Given the description of an element on the screen output the (x, y) to click on. 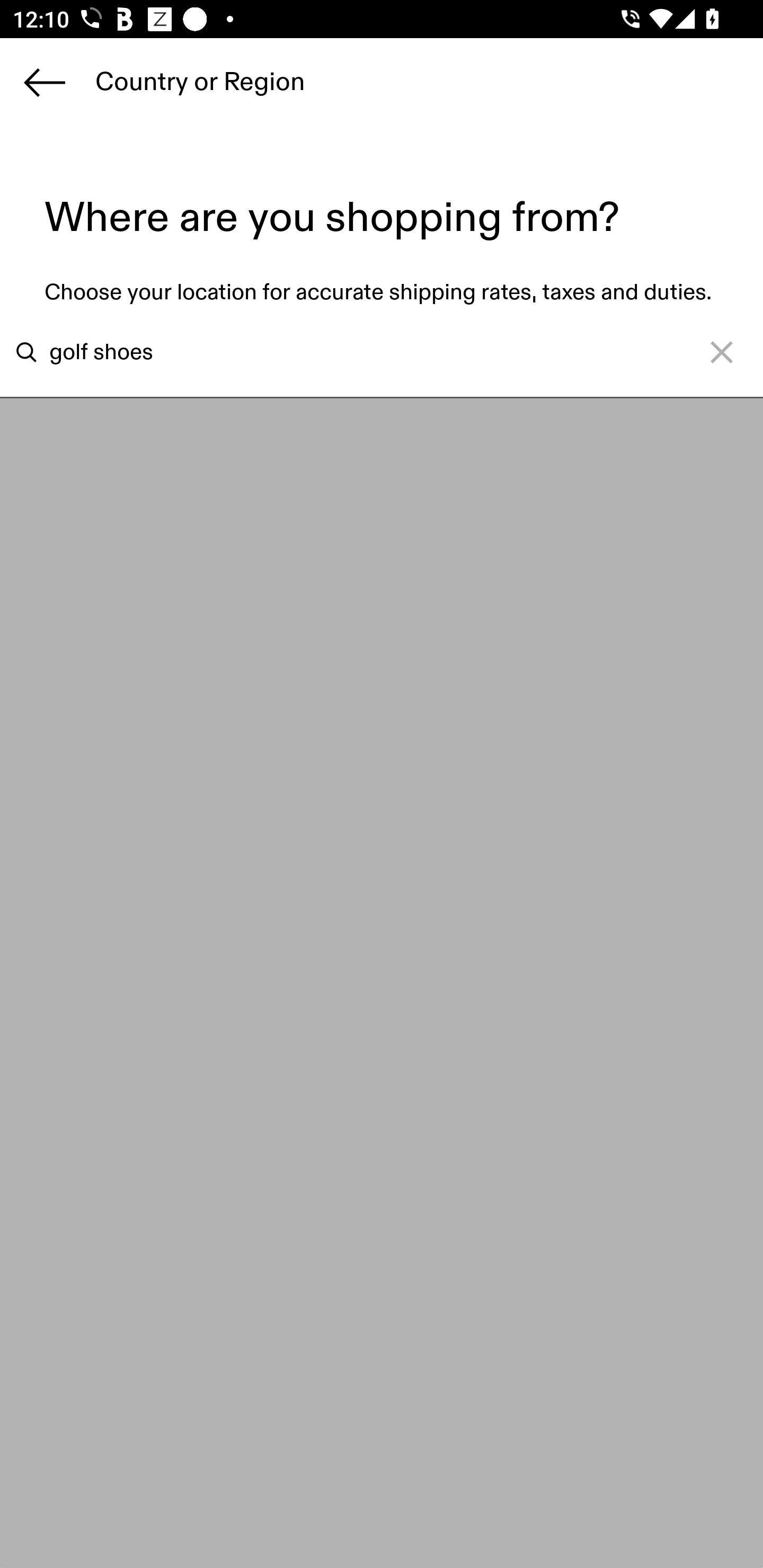
Navigate up (44, 82)
golf shoes (355, 352)
